Given the description of an element on the screen output the (x, y) to click on. 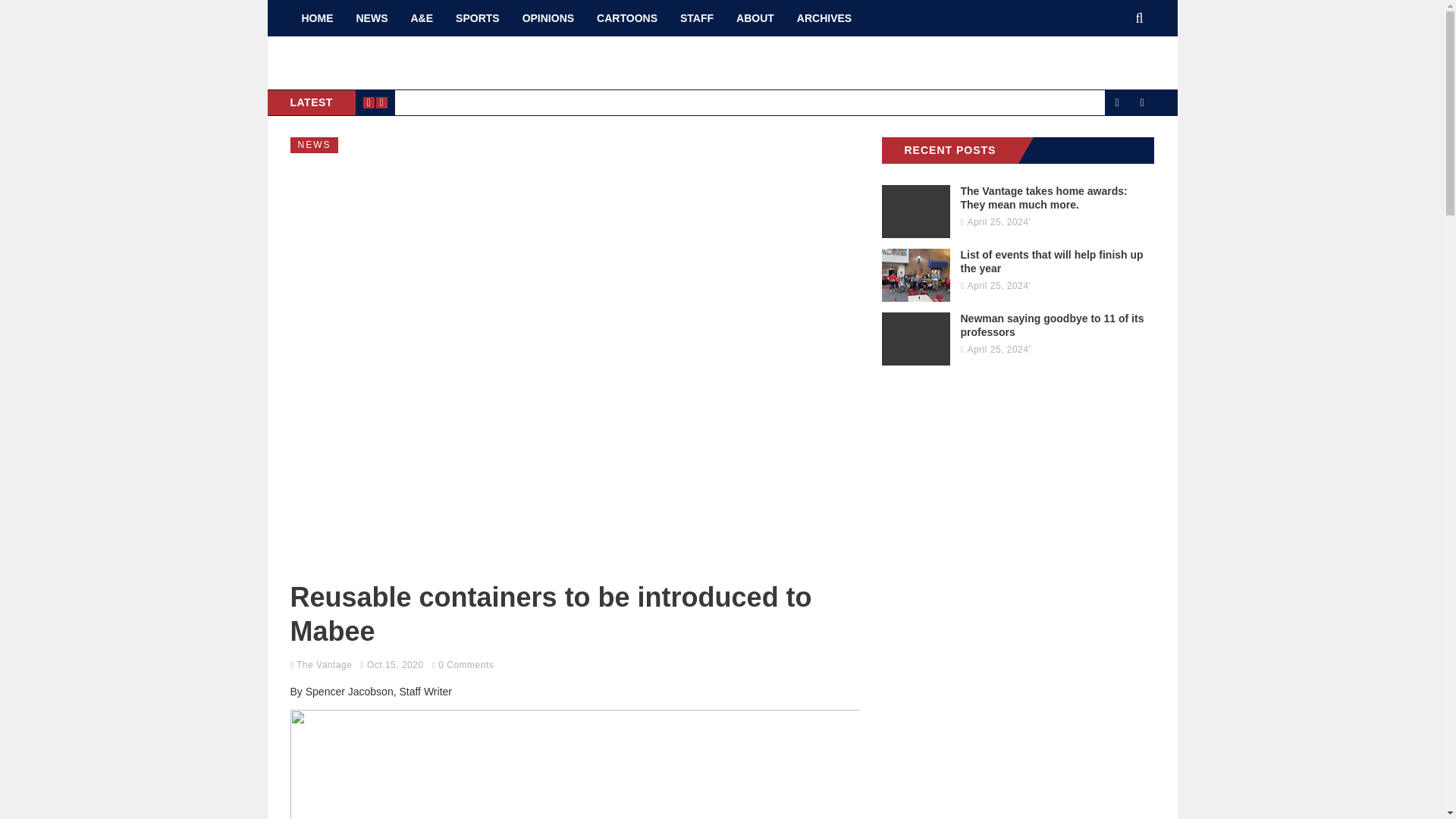
NEWS (370, 18)
STAFF (696, 18)
ARCHIVES (824, 18)
The Vantage (324, 665)
SPORTS (477, 18)
HOME (316, 18)
OPINIONS (548, 18)
